Given the description of an element on the screen output the (x, y) to click on. 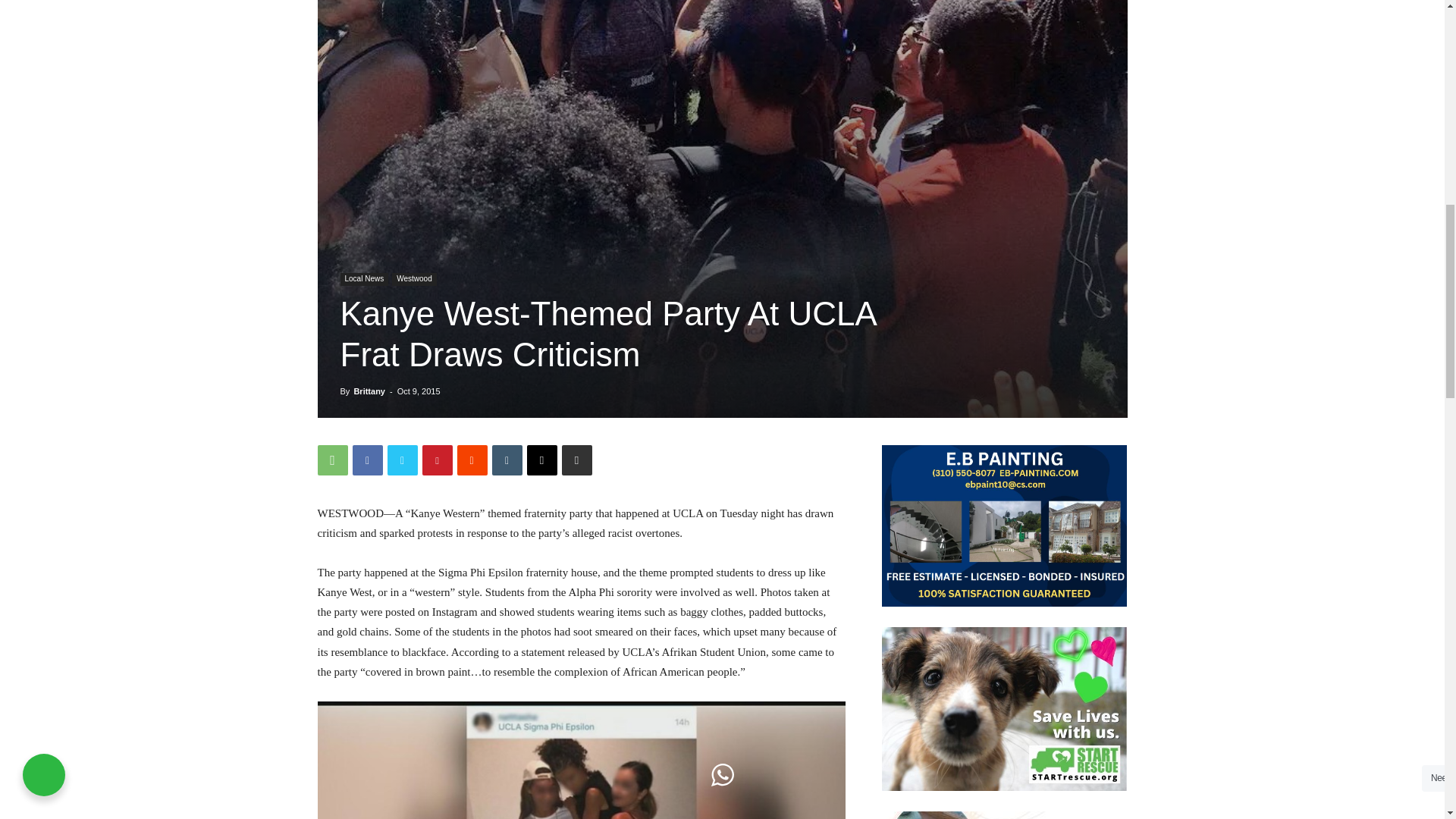
Print (575, 460)
Pinterest (436, 460)
Tumblr (506, 460)
Twitter (401, 460)
ReddIt (471, 460)
Email (540, 460)
WhatsApp (332, 460)
Facebook (366, 460)
